Given the description of an element on the screen output the (x, y) to click on. 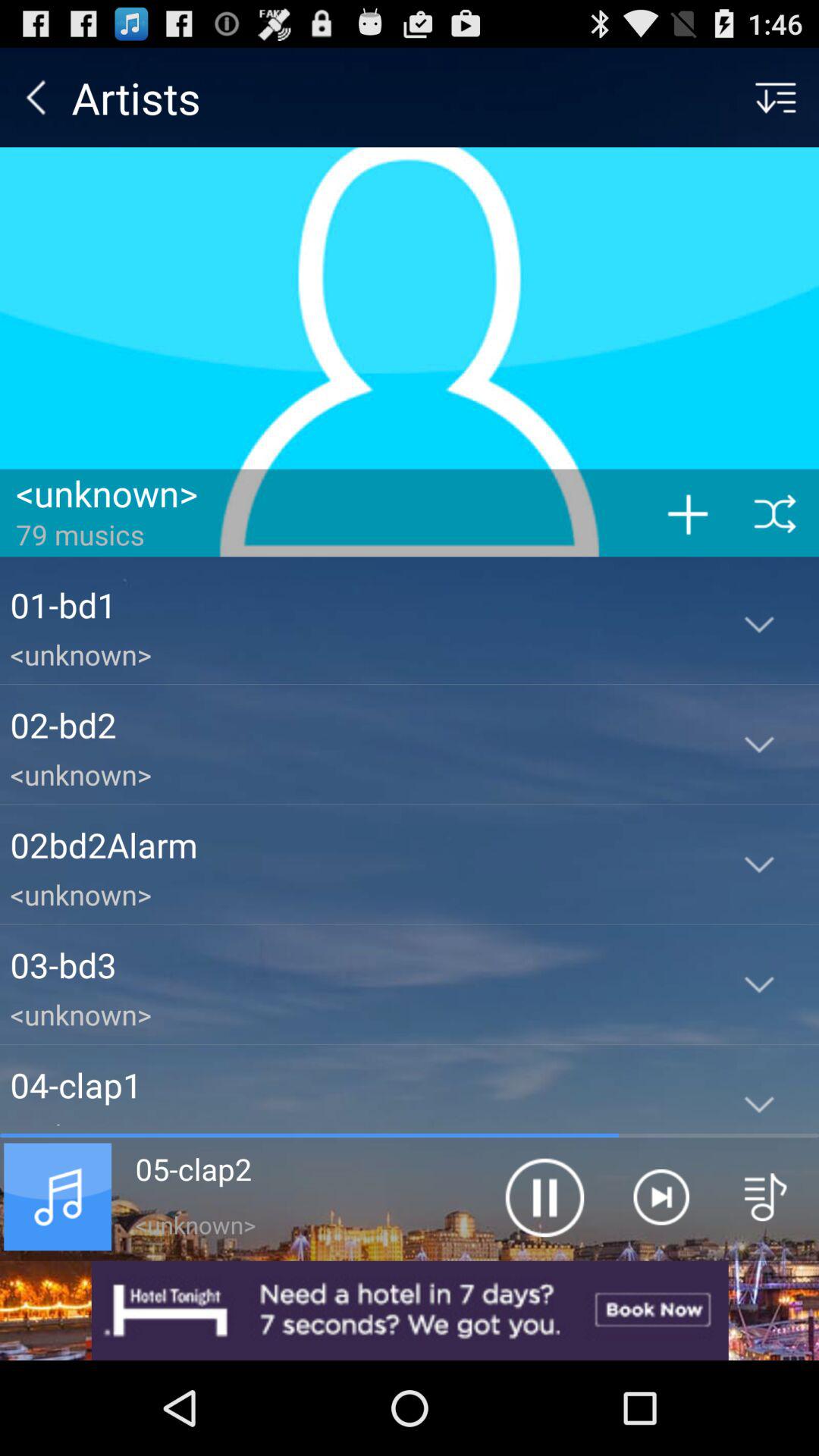
press 02bd2alarm icon (354, 844)
